Given the description of an element on the screen output the (x, y) to click on. 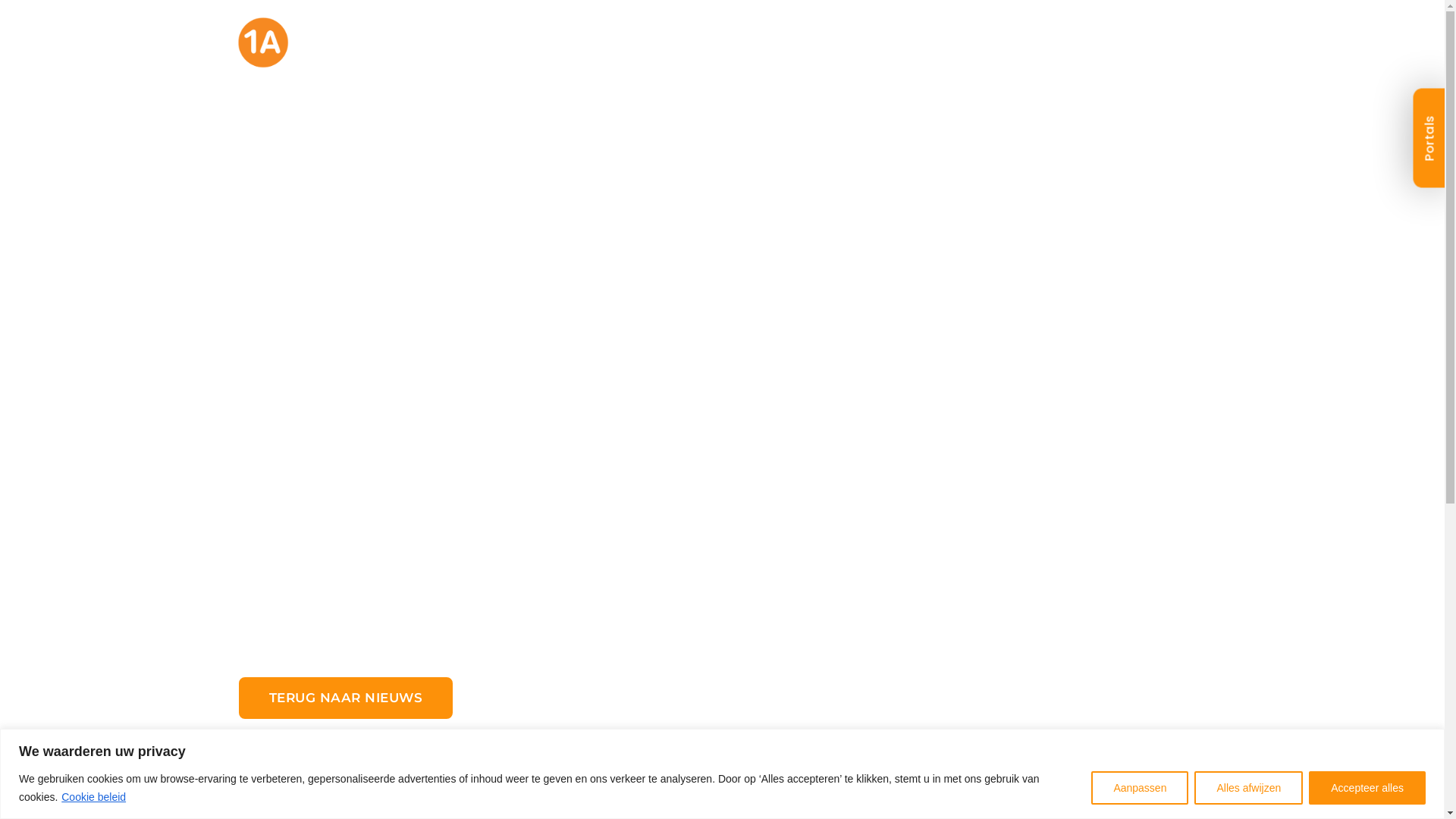
onze oplossing Element type: text (712, 52)
Alles afwijzen Element type: text (1248, 786)
over ons Element type: text (845, 52)
TERUG NAAR NIEUWS Element type: text (345, 757)
contact Element type: text (1158, 52)
Cookie beleid Element type: text (93, 796)
werken bij Element type: text (1048, 52)
Aanpassen Element type: text (1139, 786)
TERUG NAAR NIEUWS Element type: text (345, 697)
Accepteer alles Element type: text (1366, 786)
nieuws Element type: text (942, 52)
